Given the description of an element on the screen output the (x, y) to click on. 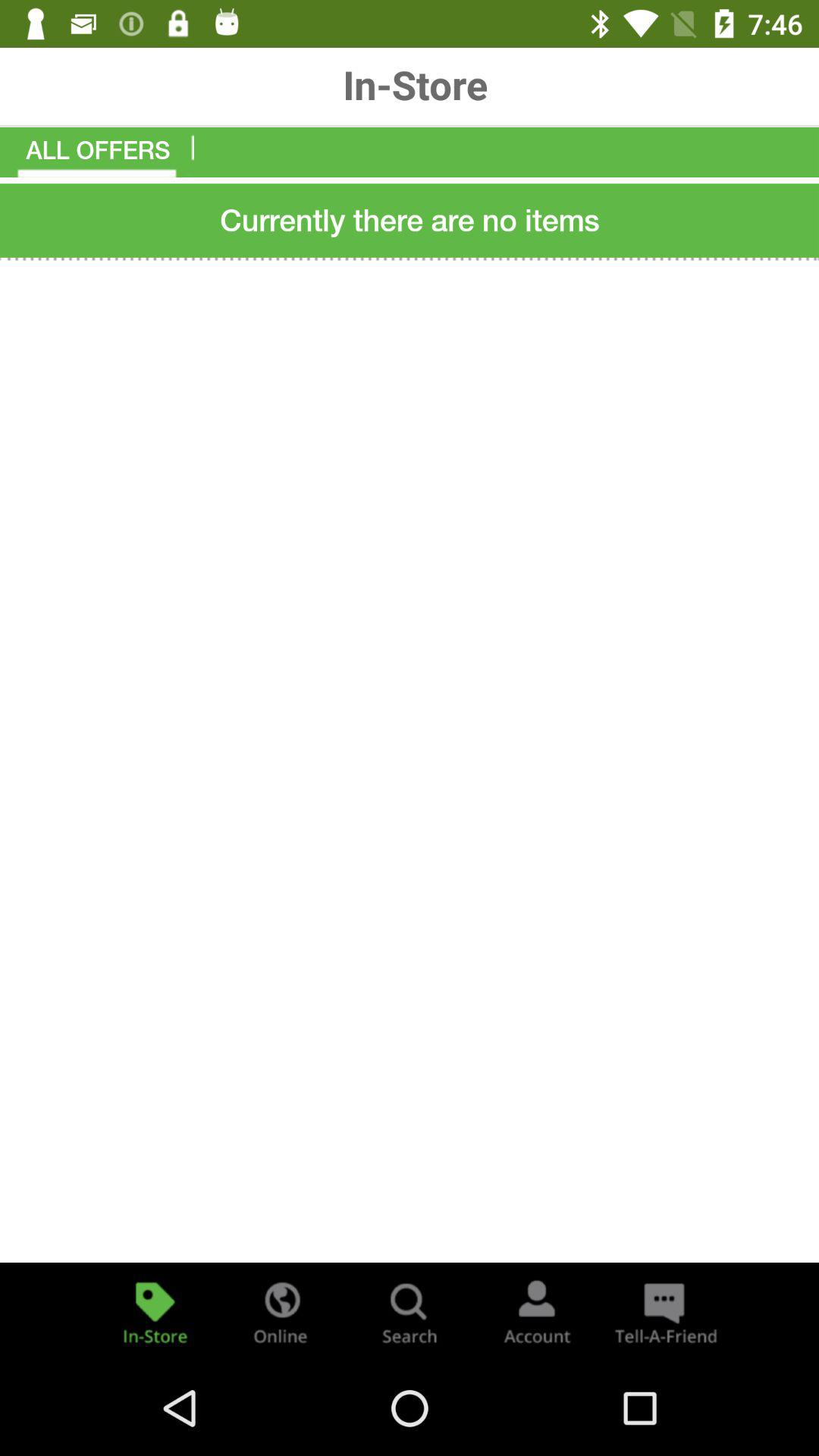
tell a friend (664, 1311)
